Given the description of an element on the screen output the (x, y) to click on. 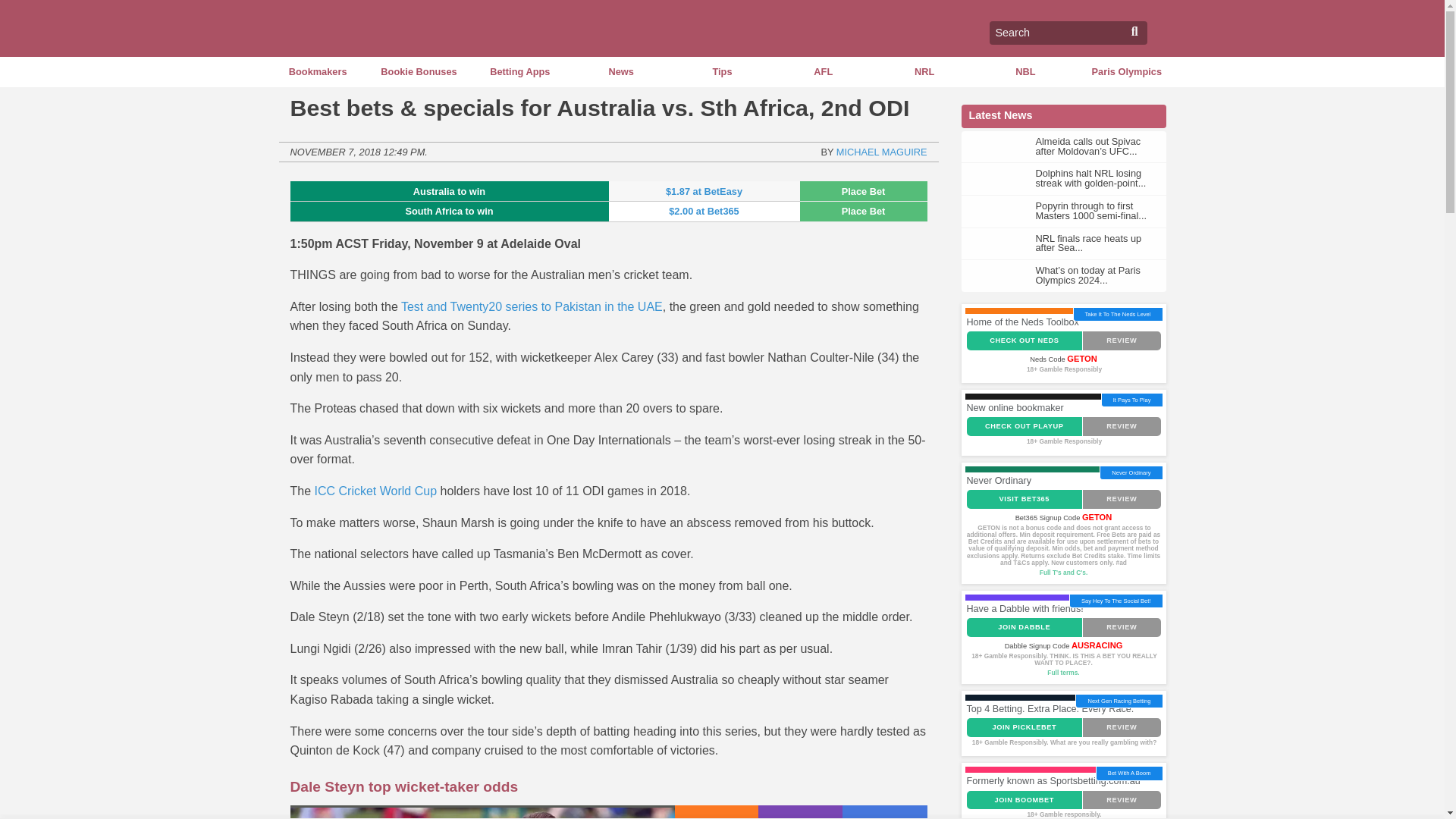
Place Bet (863, 191)
Bookie Bonuses (418, 71)
Bookmakers (317, 71)
AFL (823, 71)
ICC Cricket World Cup (376, 490)
Tips (722, 71)
Tips (722, 71)
NRL (923, 71)
MICHAEL MAGUIRE (881, 152)
Place Bet (863, 211)
